Given the description of an element on the screen output the (x, y) to click on. 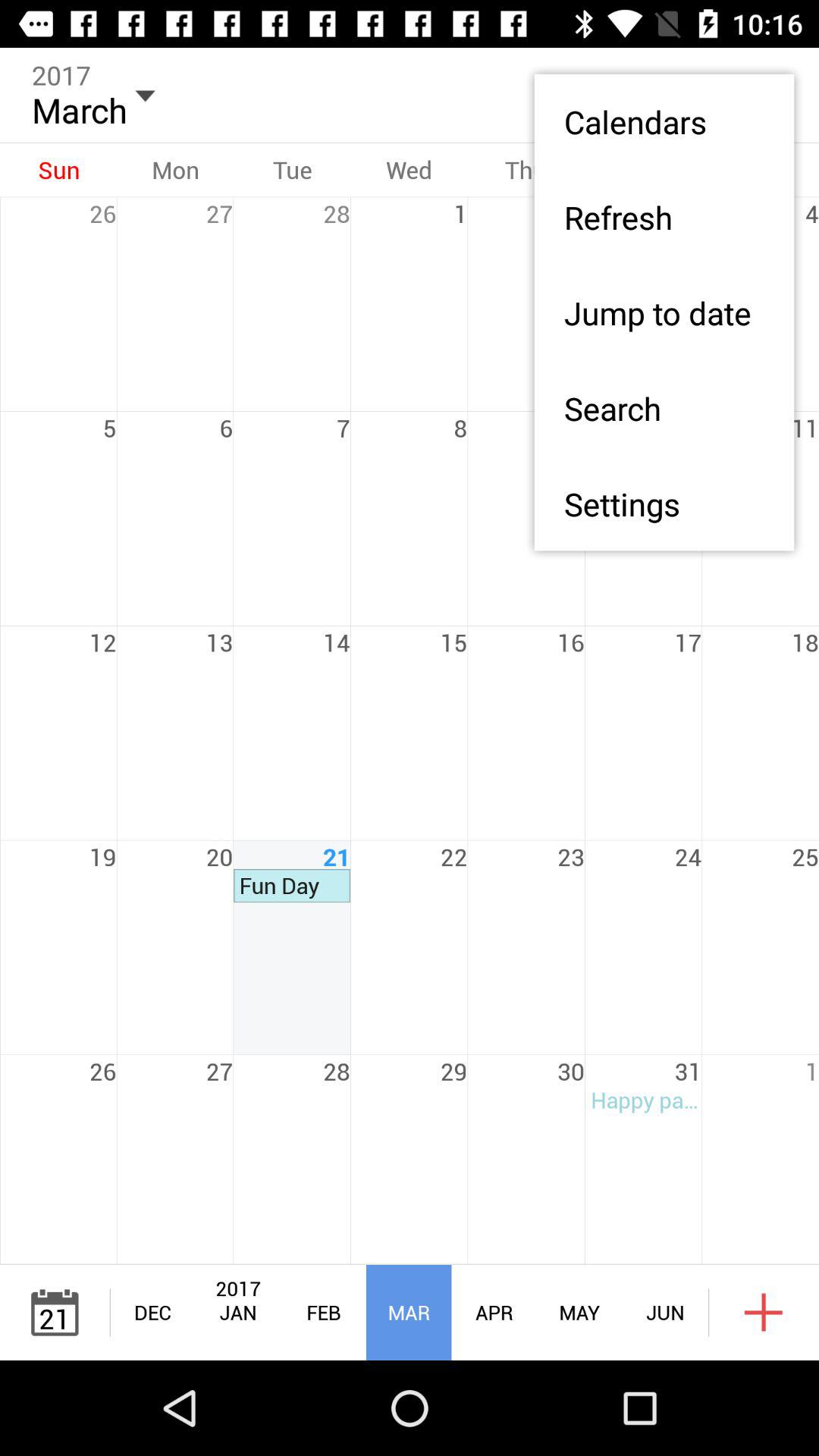
press icon below the jump to date (664, 408)
